Given the description of an element on the screen output the (x, y) to click on. 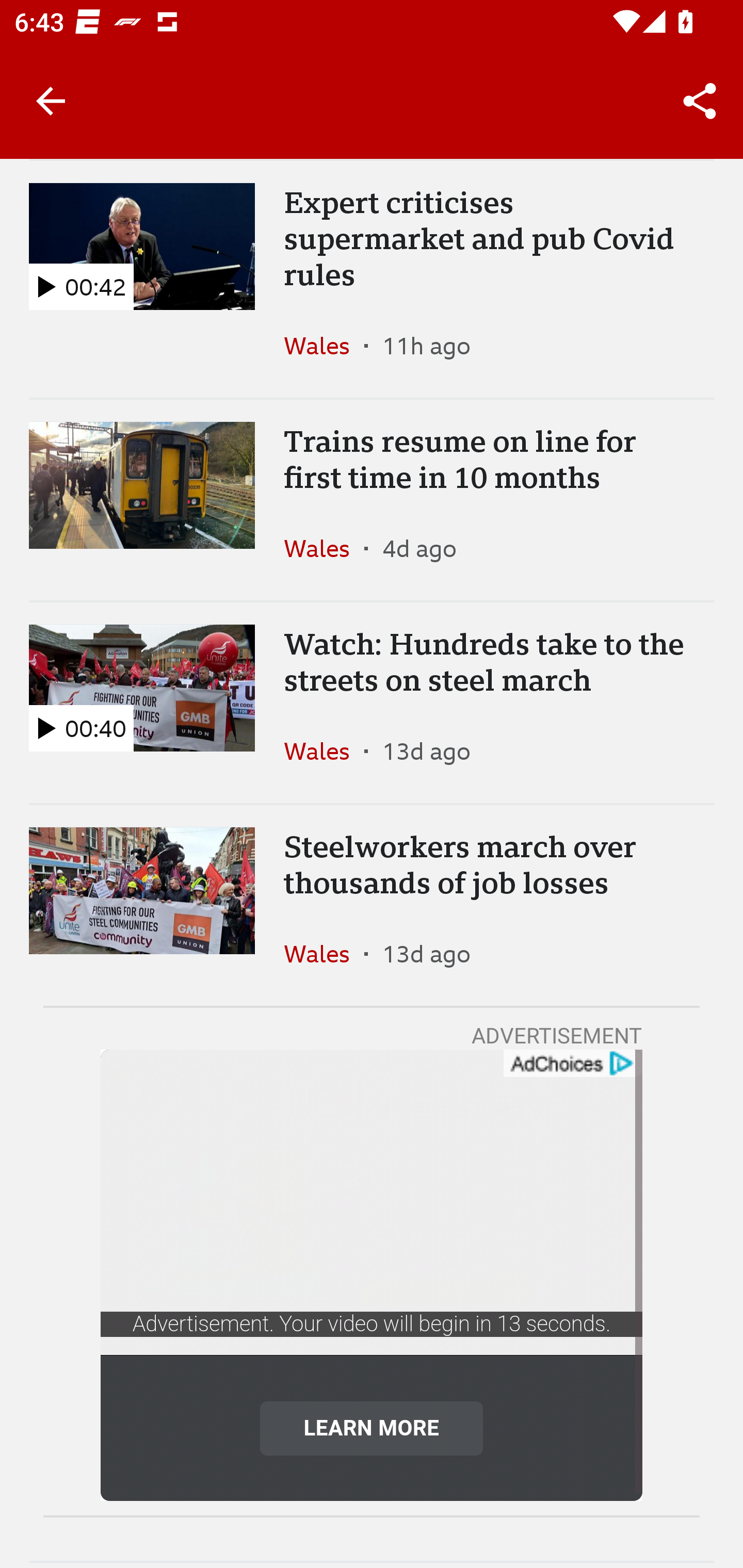
Back (50, 101)
Share (699, 101)
Wales In the section Wales (323, 345)
Wales In the section Wales (323, 547)
Wales In the section Wales (323, 750)
Wales In the section Wales (323, 953)
get?name=admarker-full-tl (571, 1063)
LEARN MORE (371, 1428)
